Given the description of an element on the screen output the (x, y) to click on. 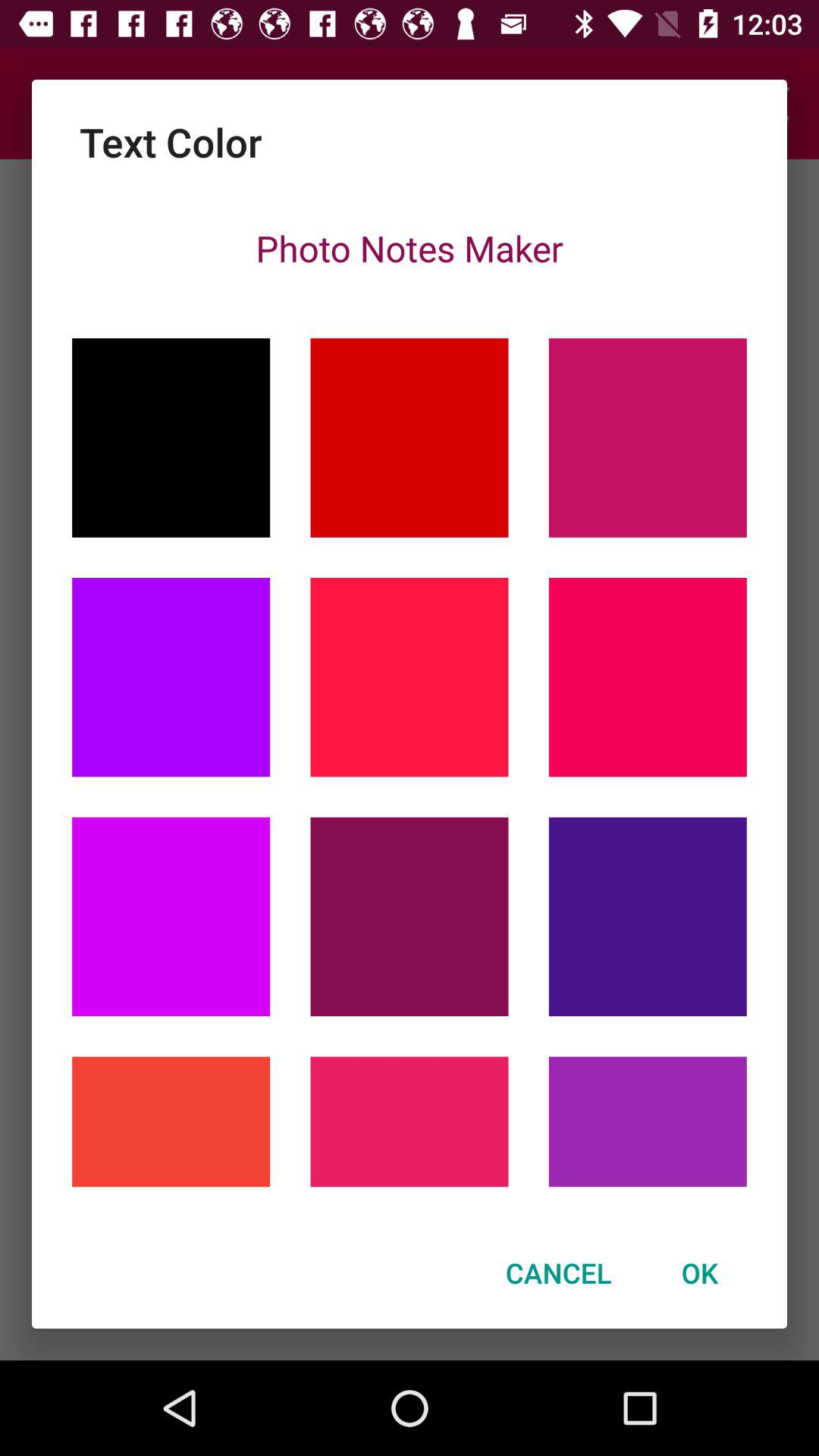
press the item next to the ok icon (558, 1272)
